Given the description of an element on the screen output the (x, y) to click on. 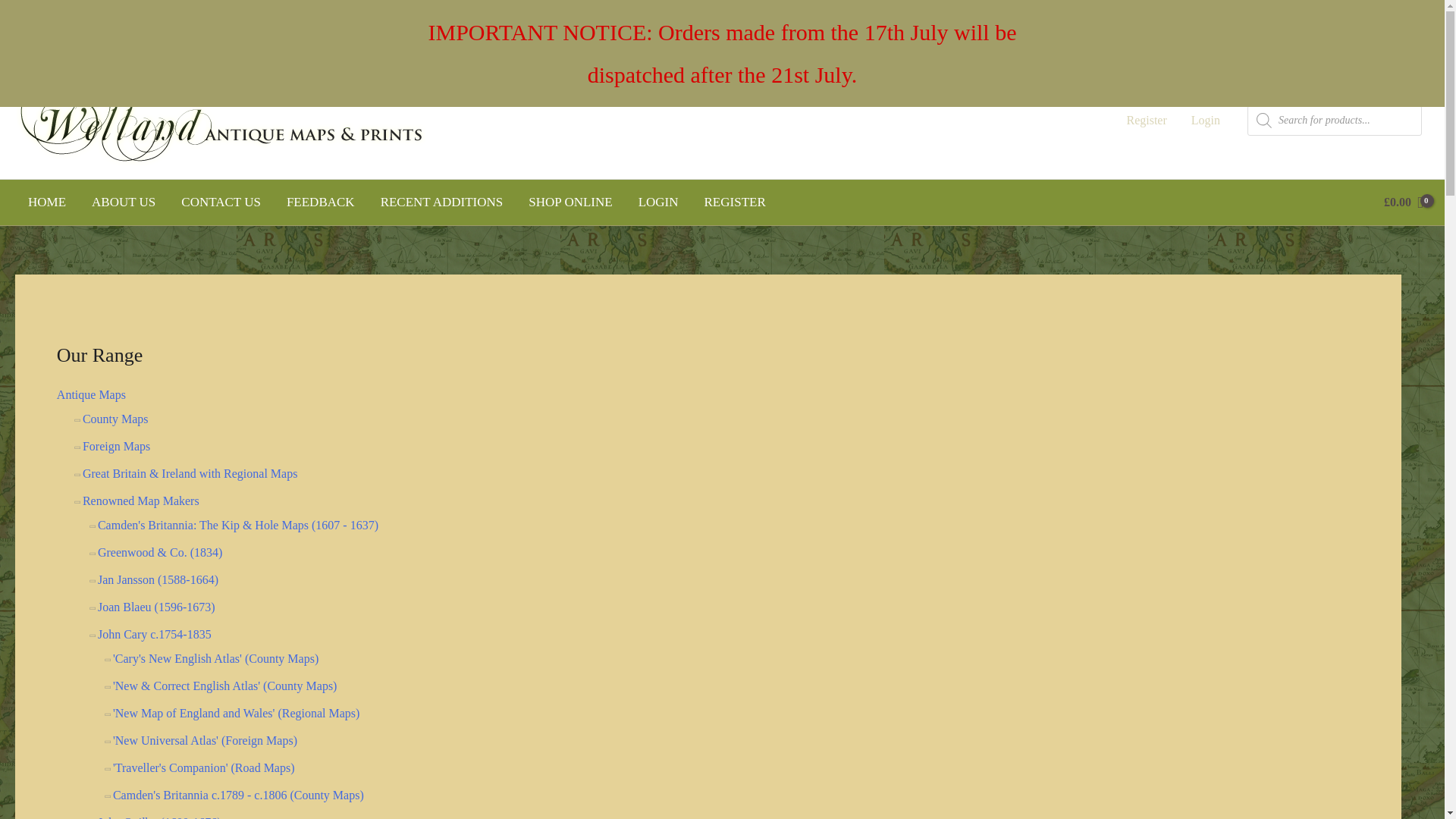
ABOUT US (123, 202)
County Maps (115, 418)
Renowned Map Makers (140, 500)
HOME (46, 202)
Login (1205, 120)
CONTACT US (220, 202)
Foreign Maps (115, 445)
REGISTER (734, 202)
Antique Maps (90, 394)
SHOP ONLINE (569, 202)
RECENT ADDITIONS (442, 202)
FEEDBACK (320, 202)
John Cary c.1754-1835 (154, 634)
